Given the description of an element on the screen output the (x, y) to click on. 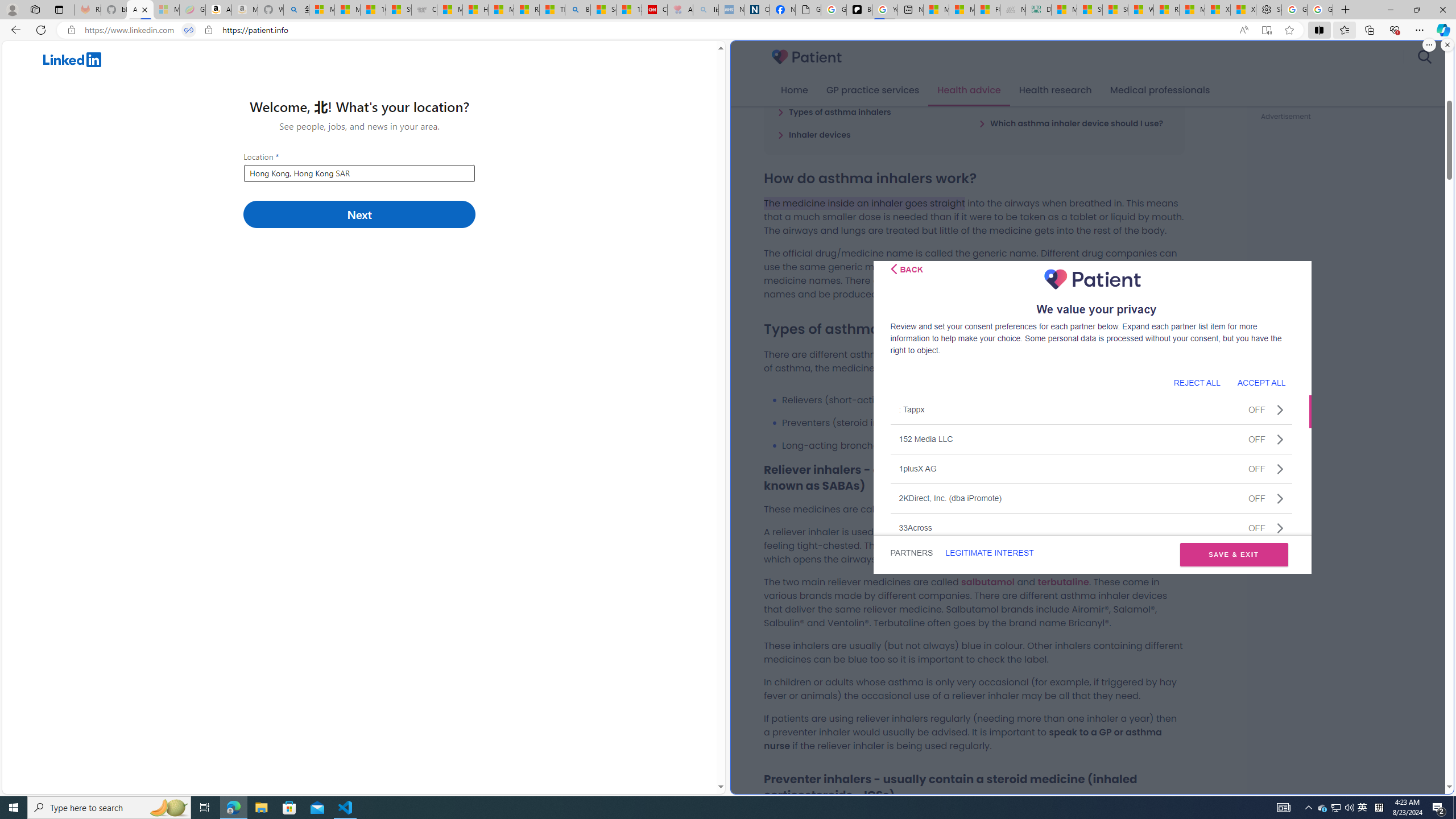
How I Got Rid of Microsoft Edge's Unnecessary Features (475, 9)
2KDirect, Inc. (dba iPromote)OFF (1090, 498)
Asthma Inhalers: Names and Types (140, 9)
Long-acting bronchodilators. (983, 445)
Are there any side-effects from asthma inhalers? (1074, 94)
